Given the description of an element on the screen output the (x, y) to click on. 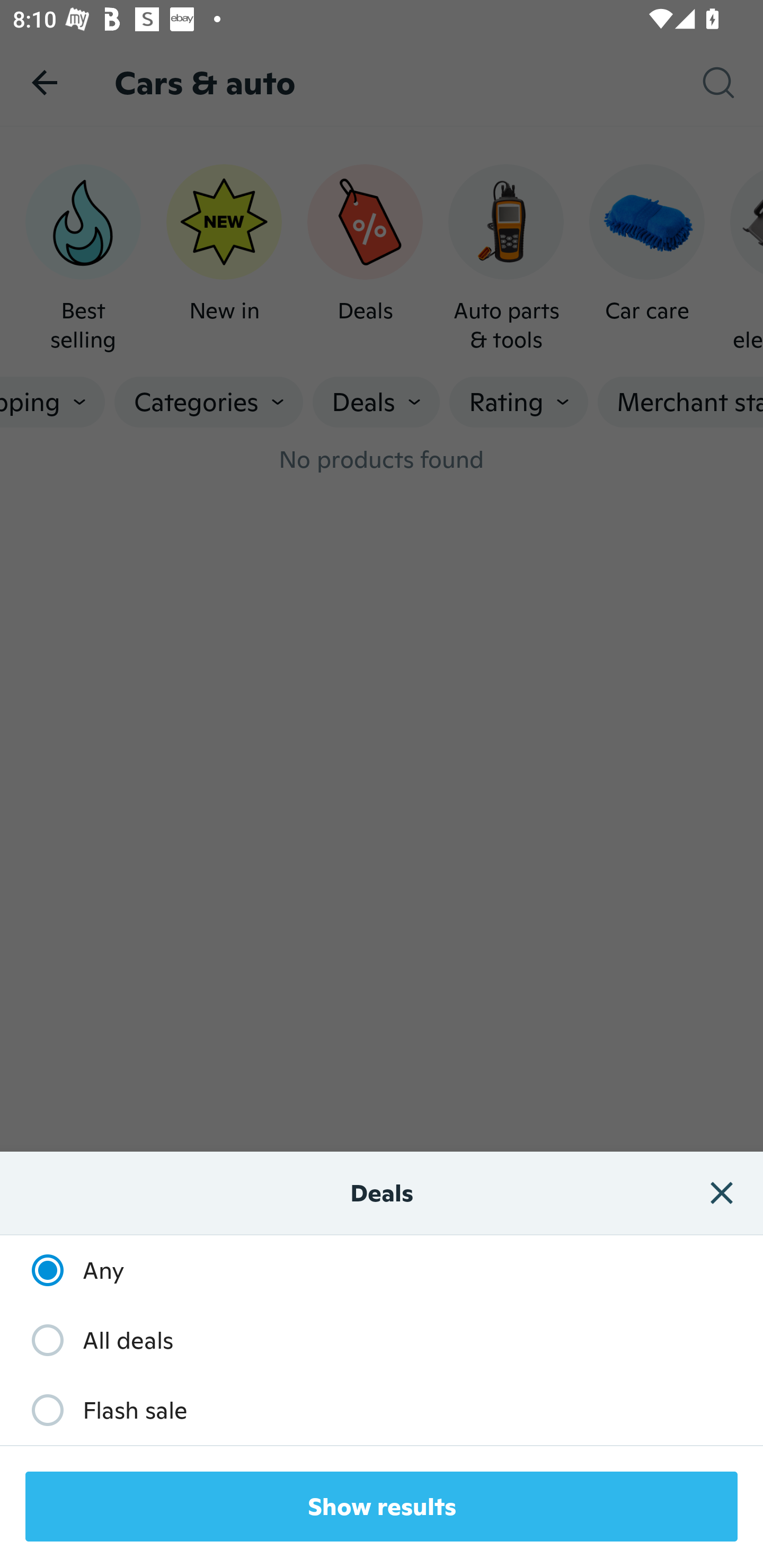
Any (69, 1269)
All deals (93, 1339)
Flash sale (99, 1410)
Show results (381, 1506)
